Given the description of an element on the screen output the (x, y) to click on. 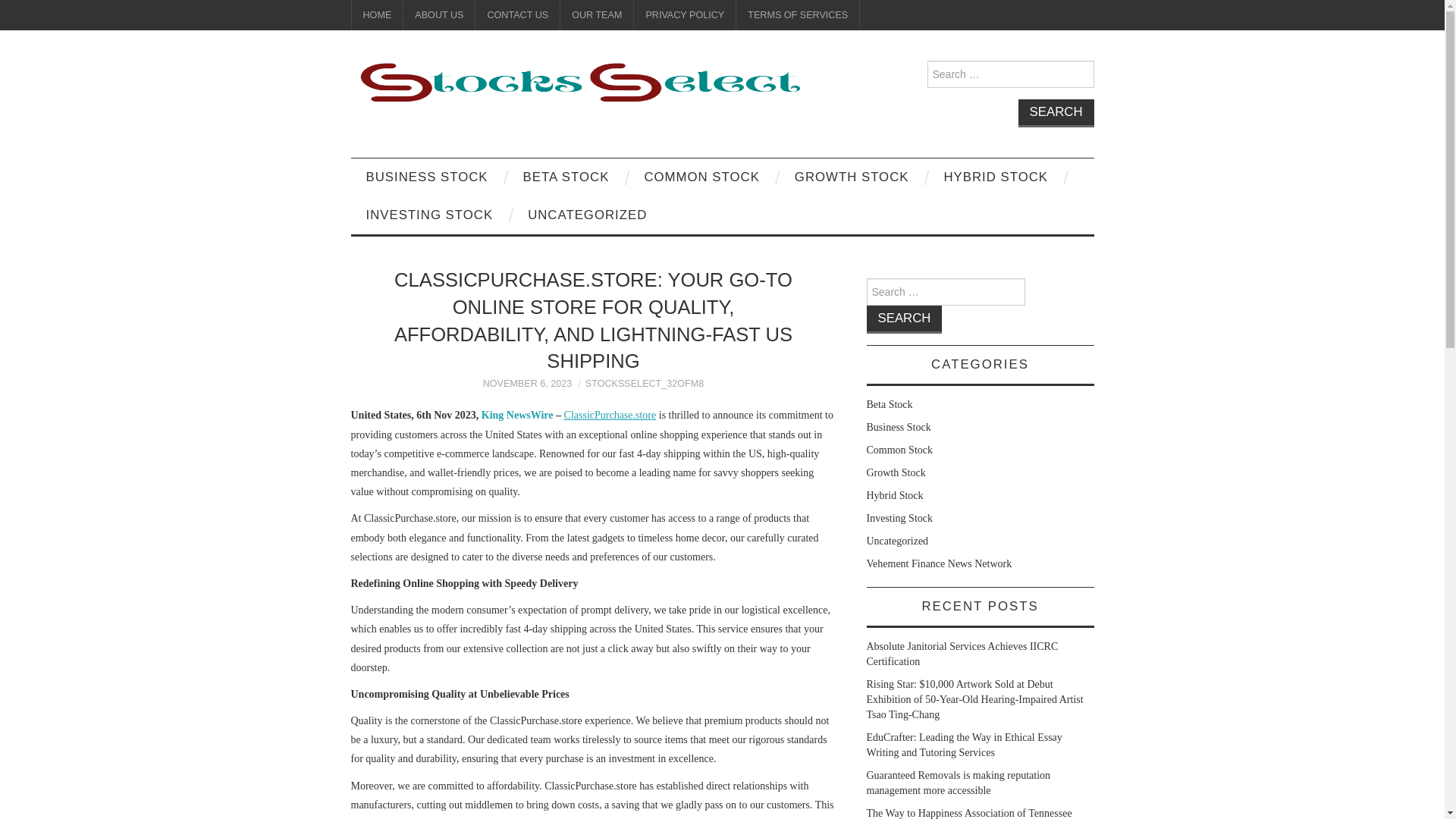
BETA STOCK (566, 177)
Vehement Finance News Network (938, 563)
Search (904, 319)
Search (904, 319)
OUR TEAM (596, 15)
Common Stock (899, 449)
Search (904, 319)
CONTACT US (517, 15)
King NewsWire (517, 414)
Beta Stock (889, 404)
Search (1055, 113)
Search for: (1009, 73)
ABOUT US (438, 15)
Hybrid Stock (894, 495)
Business Stock (898, 427)
